Given the description of an element on the screen output the (x, y) to click on. 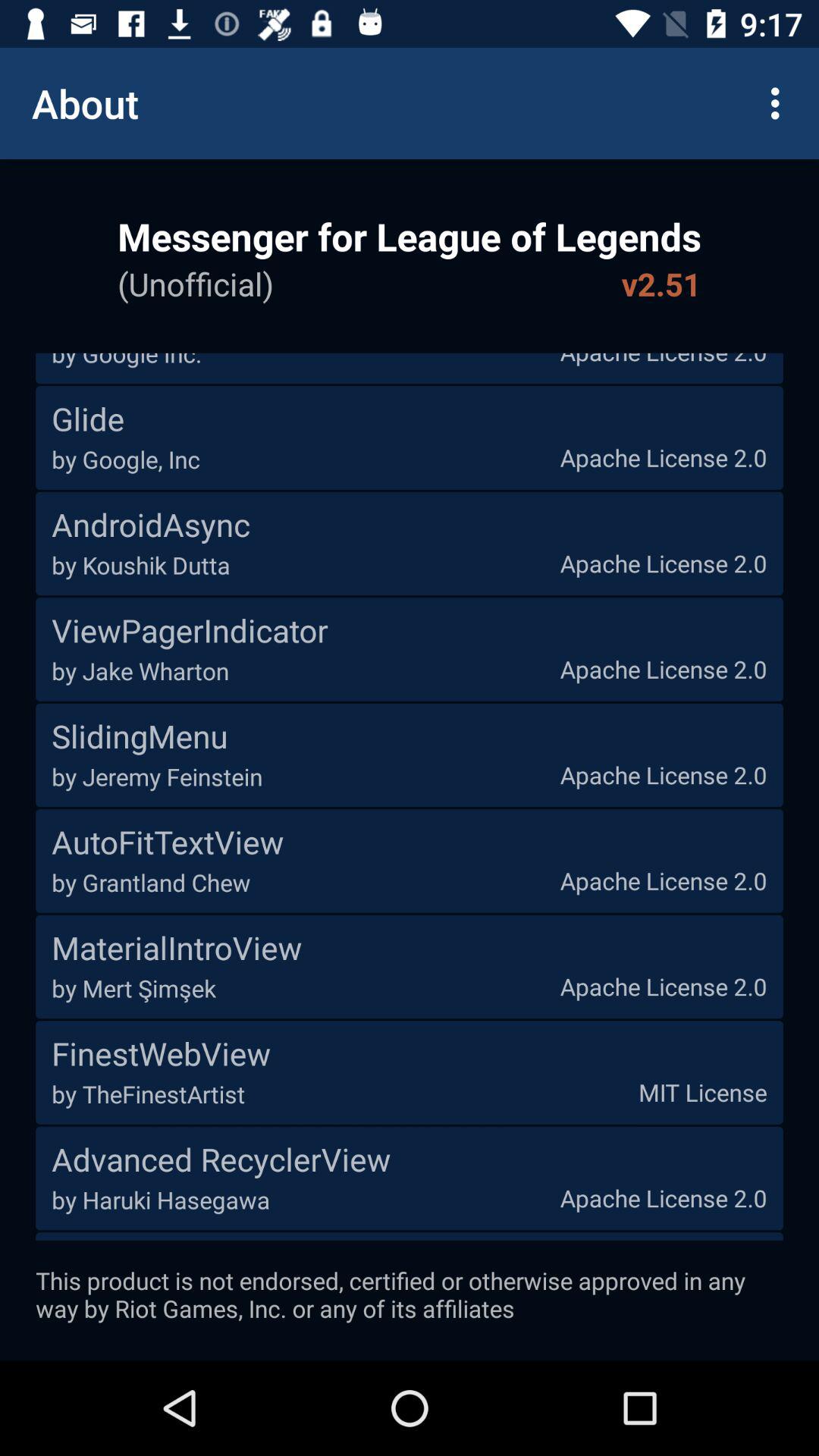
press the icon to the right of about (779, 103)
